Given the description of an element on the screen output the (x, y) to click on. 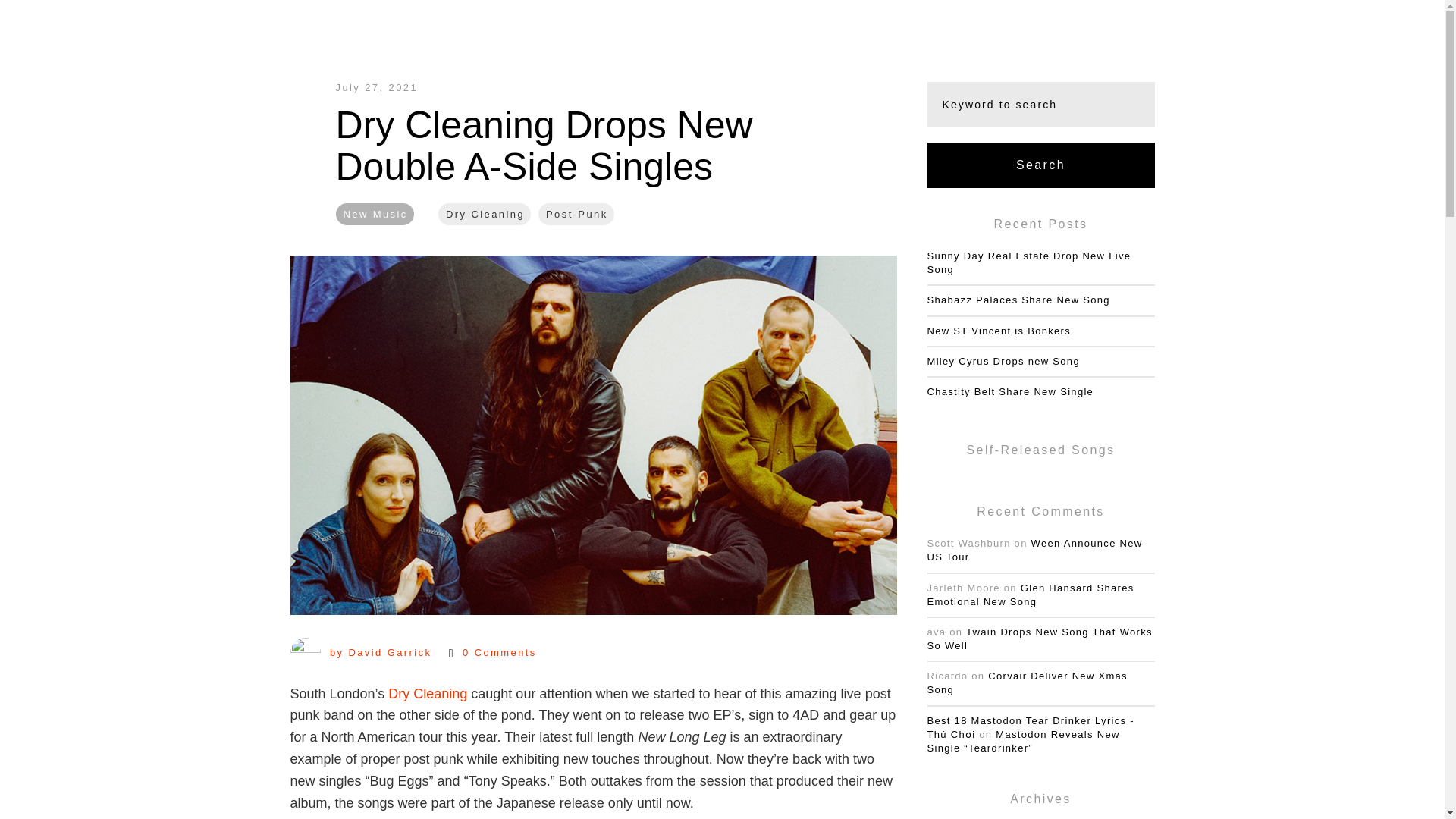
New Music (373, 214)
Post-Punk (576, 214)
0 Comments (492, 653)
Dry Cleaning (484, 214)
by David Garrick (359, 653)
Dry Cleaning (427, 693)
Search (1040, 165)
